Given the description of an element on the screen output the (x, y) to click on. 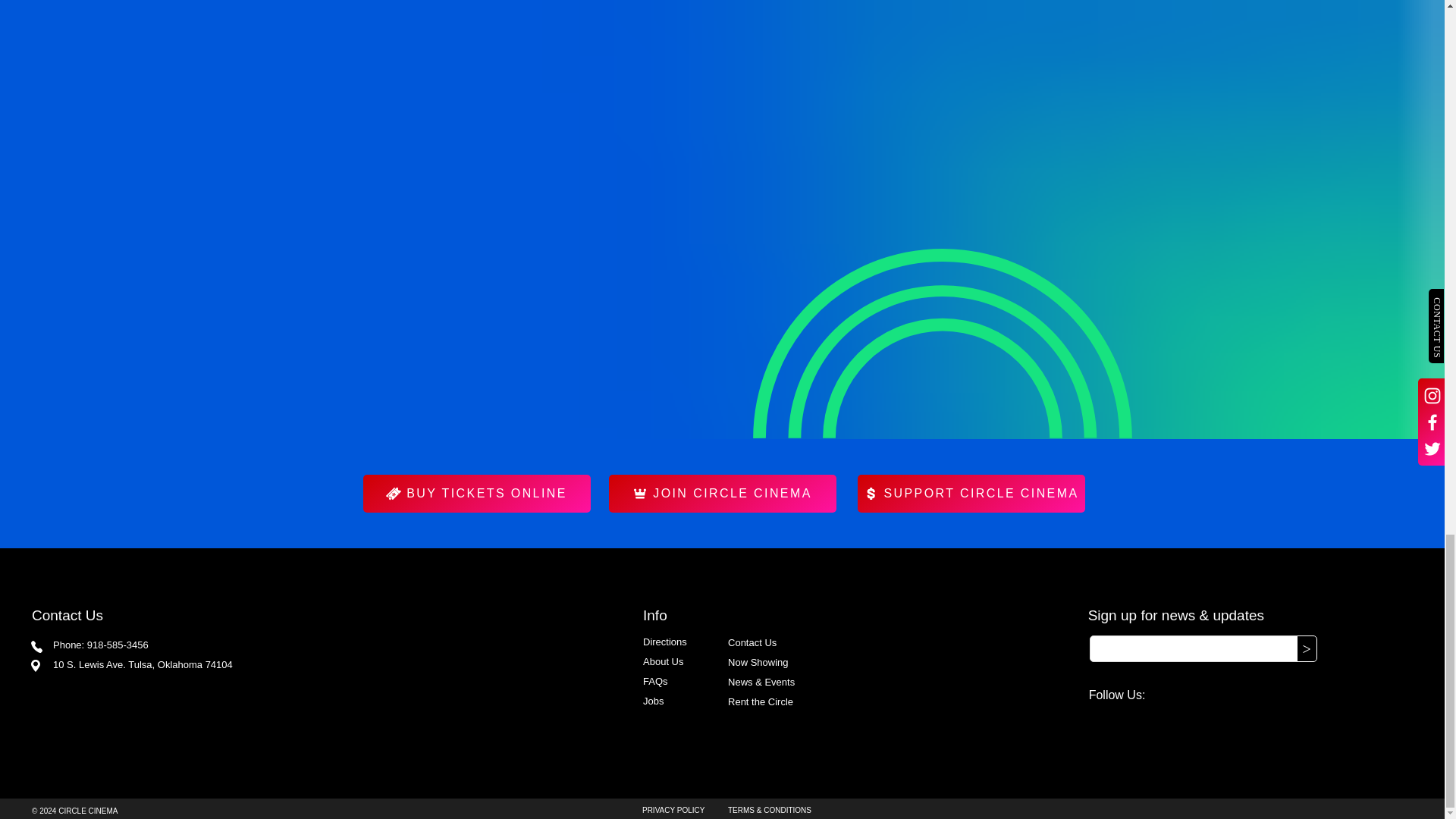
SUPPORT CIRCLE CINEMA (970, 493)
BUY TICKETS ONLINE (475, 493)
JOIN CIRCLE CINEMA (721, 493)
